Given the description of an element on the screen output the (x, y) to click on. 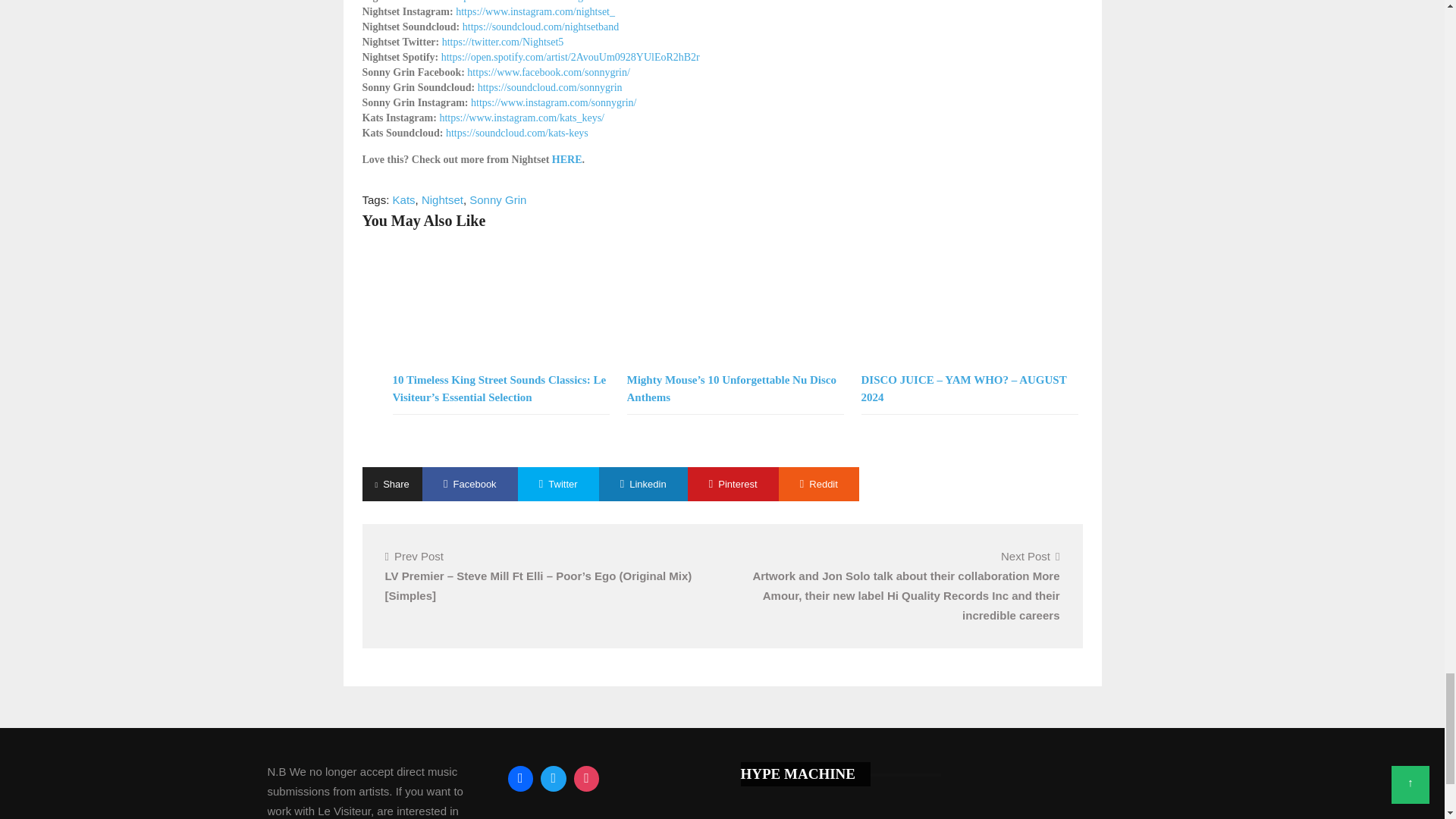
Sonny Grin (496, 199)
Instagram (587, 778)
Kats (403, 199)
Nightset (442, 199)
Twitter (553, 778)
HERE (566, 159)
Facebook (520, 778)
